Given the description of an element on the screen output the (x, y) to click on. 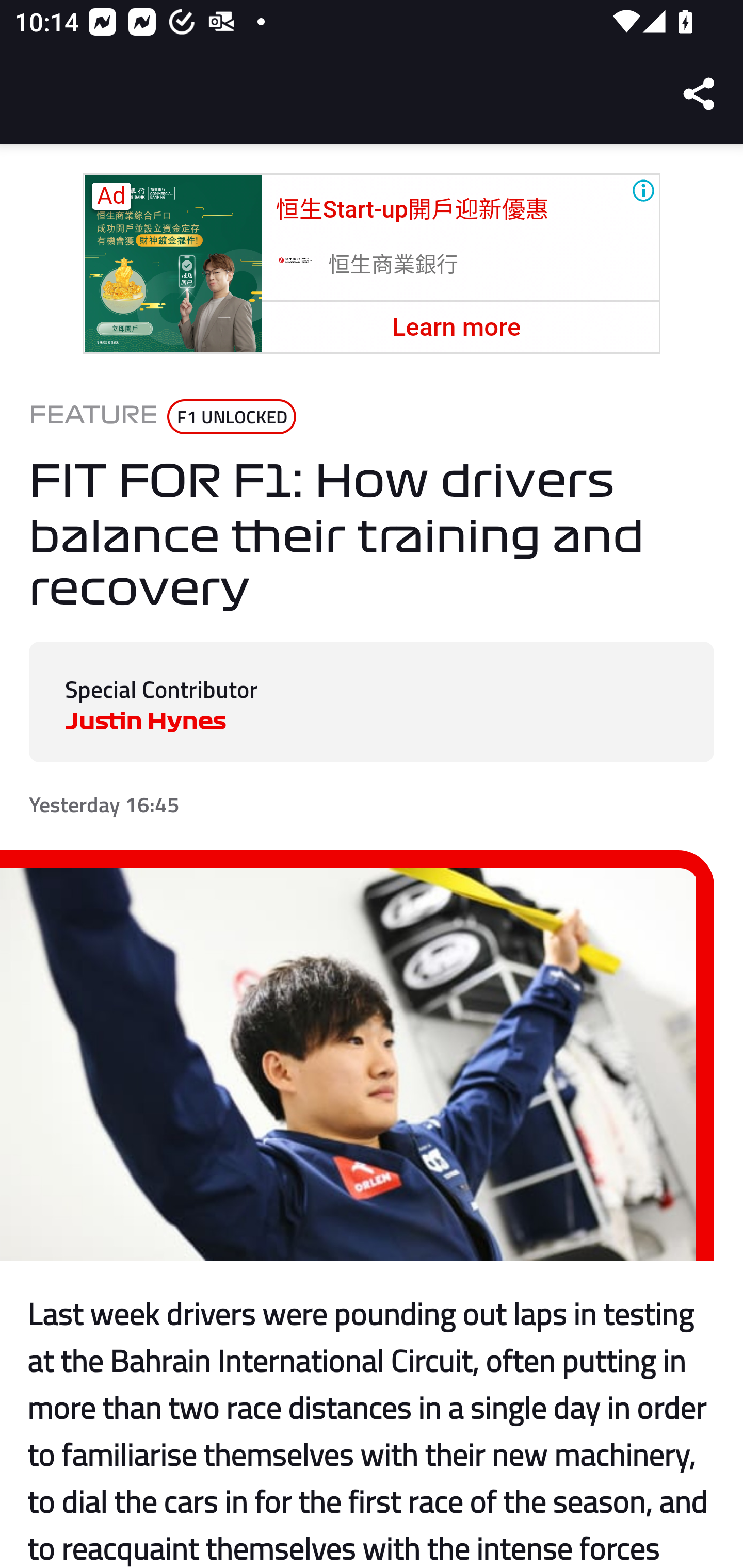
Share (699, 93)
index (172, 264)
恒生Start-up開戶迎新優惠 (411, 209)
index (295, 262)
恒生商業銀行 (393, 264)
Learn more (455, 327)
